Given the description of an element on the screen output the (x, y) to click on. 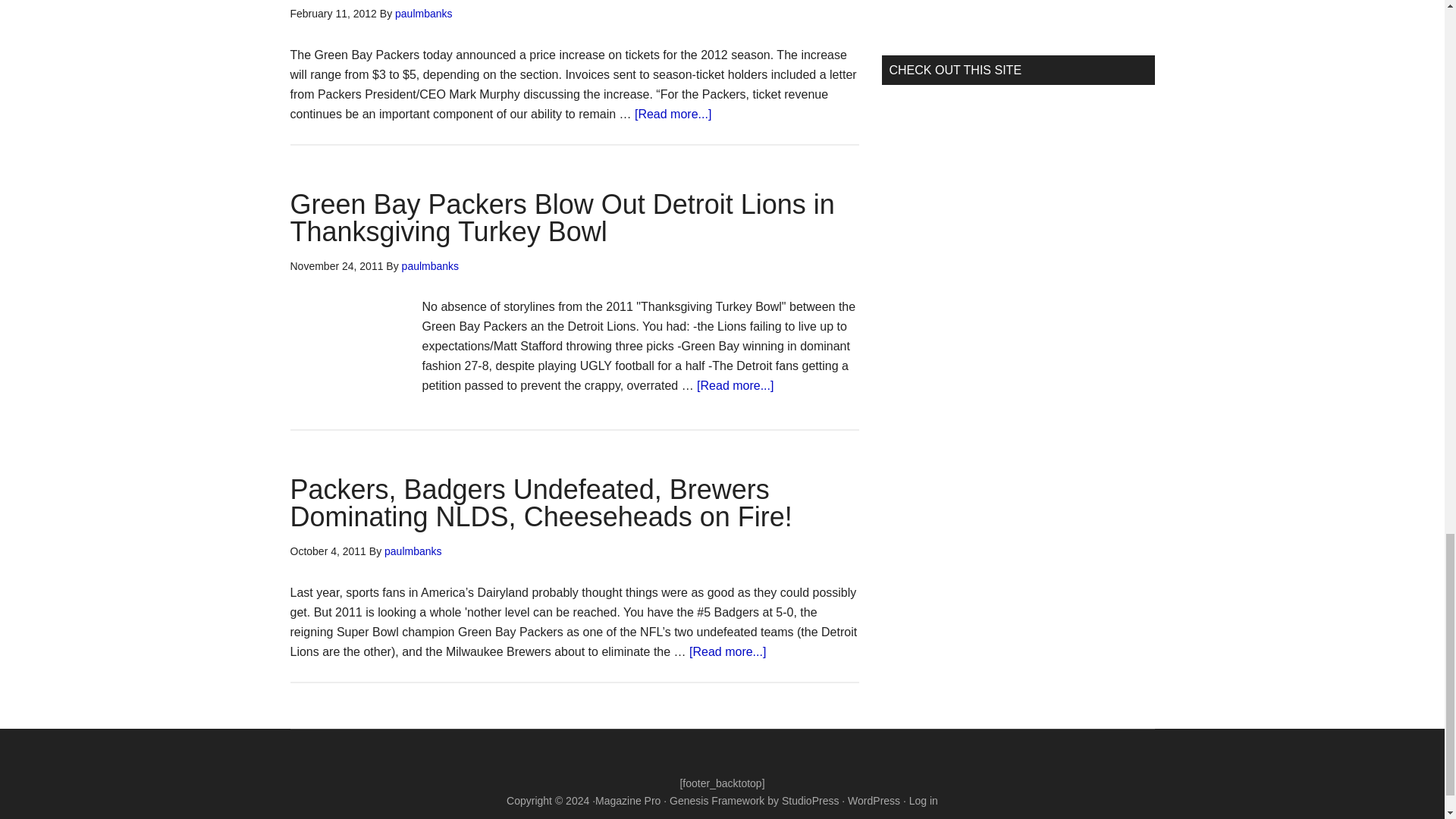
paulmbanks (423, 13)
paulmbanks (430, 265)
paulmbanks (413, 551)
